Given the description of an element on the screen output the (x, y) to click on. 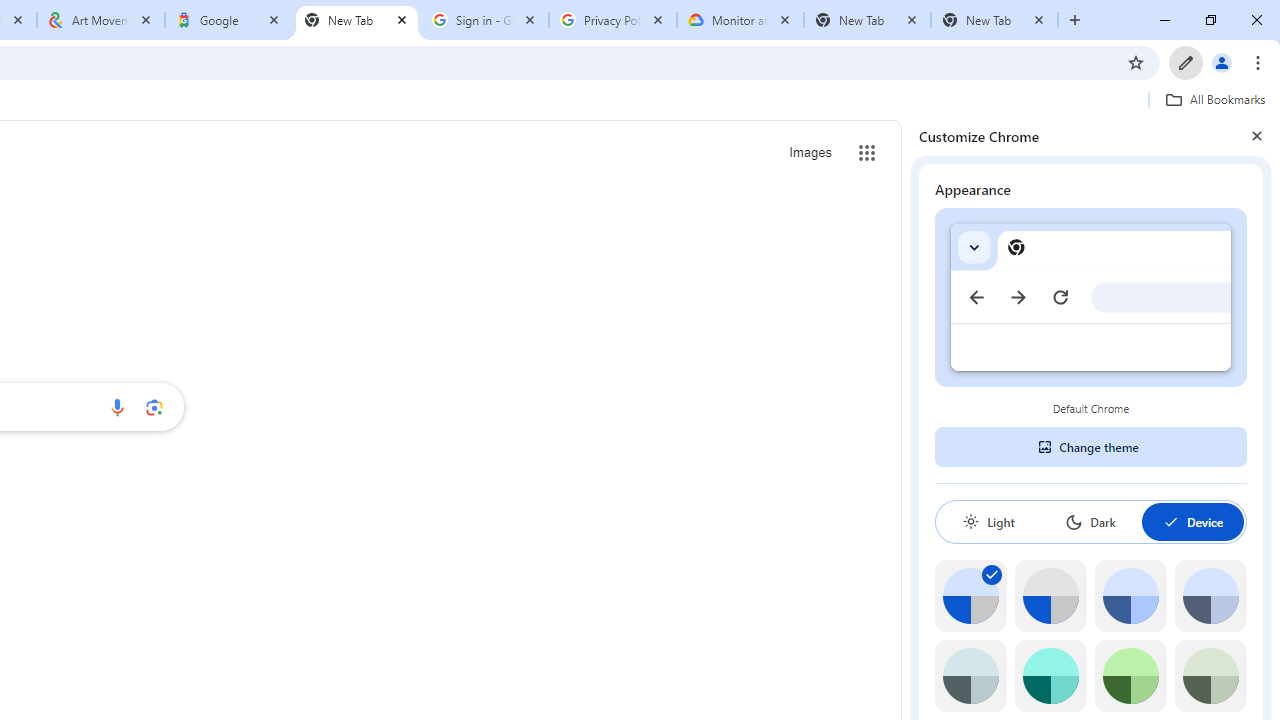
Search by voice (116, 407)
Sign in - Google Accounts (485, 20)
Light (988, 521)
Search by image (153, 407)
New Tab (994, 20)
